Given the description of an element on the screen output the (x, y) to click on. 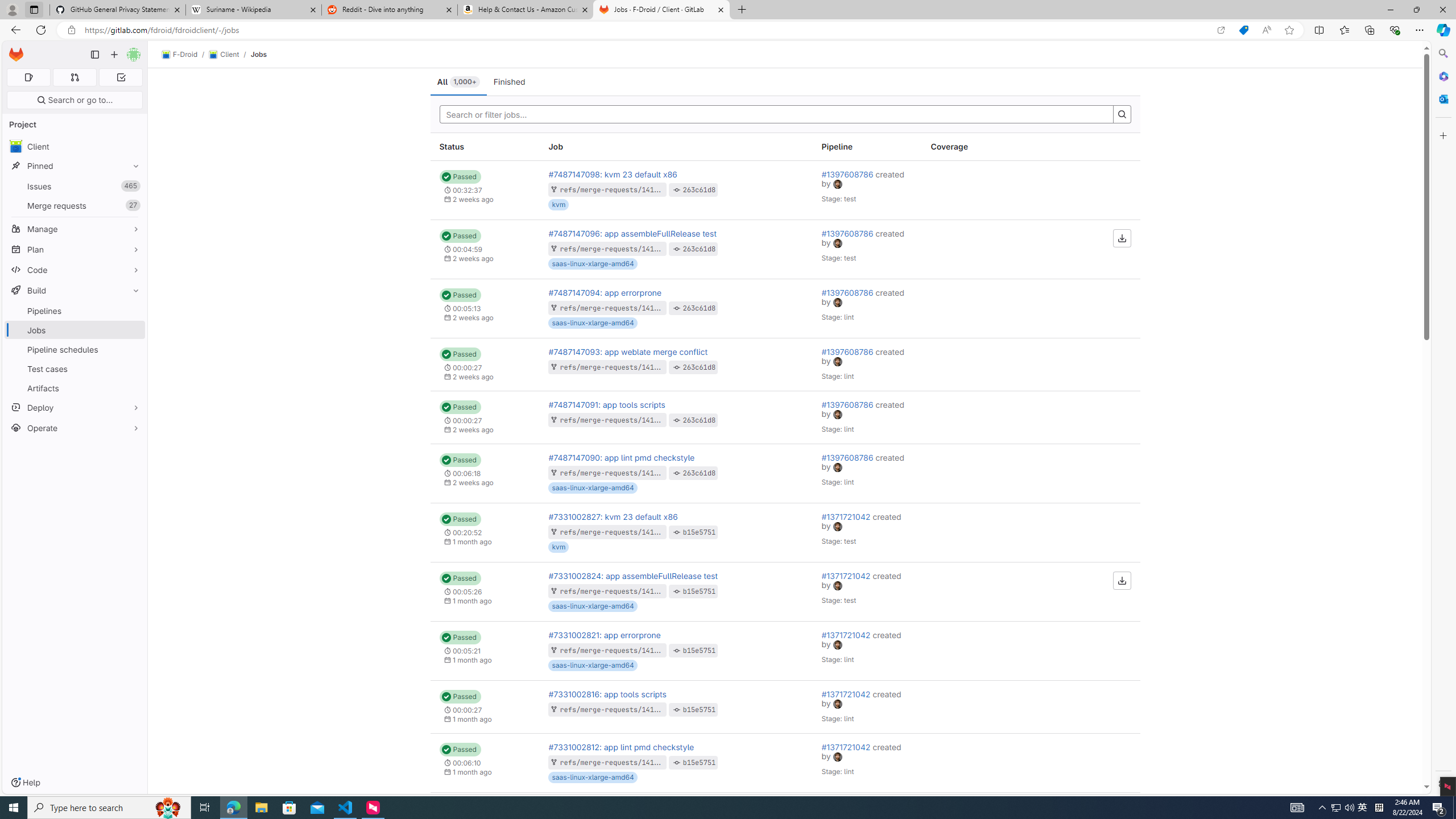
#1371721042 created by avatar Stage: lint (866, 762)
Jobs (258, 53)
Primary navigation sidebar (94, 54)
#7331002827: kvm 23 default x86 (613, 516)
GitHub General Privacy Statement - GitHub Docs (117, 9)
Reddit - Dive into anything (390, 9)
F-Droid/ (185, 54)
Status: Passed 00:05:21 1 month ago (484, 650)
Test cases (74, 368)
Build (74, 289)
Assigned issues 0 (28, 76)
